Given the description of an element on the screen output the (x, y) to click on. 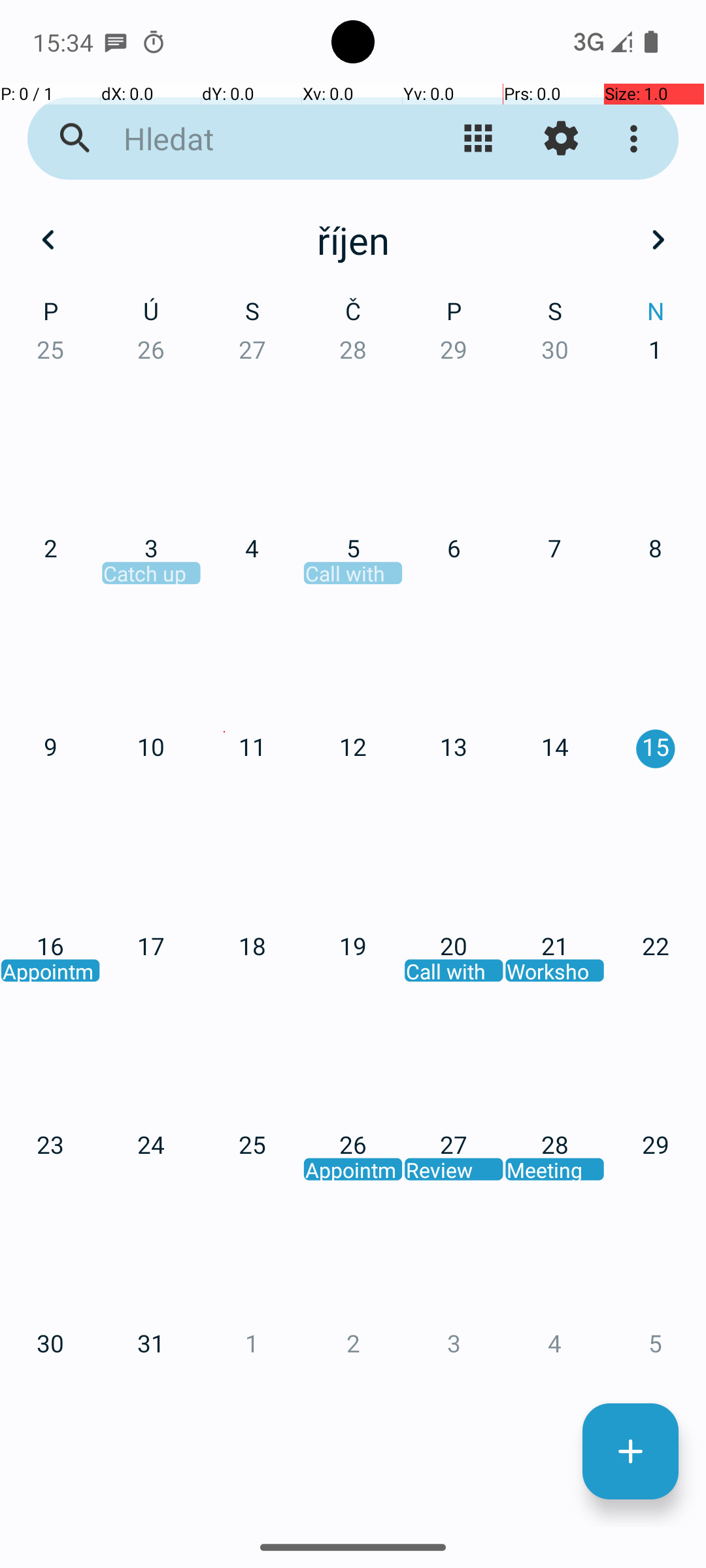
Hledat Element type: android.widget.EditText (252, 138)
Změnit zobrazení Element type: android.widget.Button (477, 138)
Nastavení Element type: android.widget.Button (560, 138)
Další možnosti Element type: android.widget.ImageView (636, 138)
Nová událost Element type: android.widget.ImageButton (630, 1451)
říjen Element type: android.widget.TextView (352, 239)
